Given the description of an element on the screen output the (x, y) to click on. 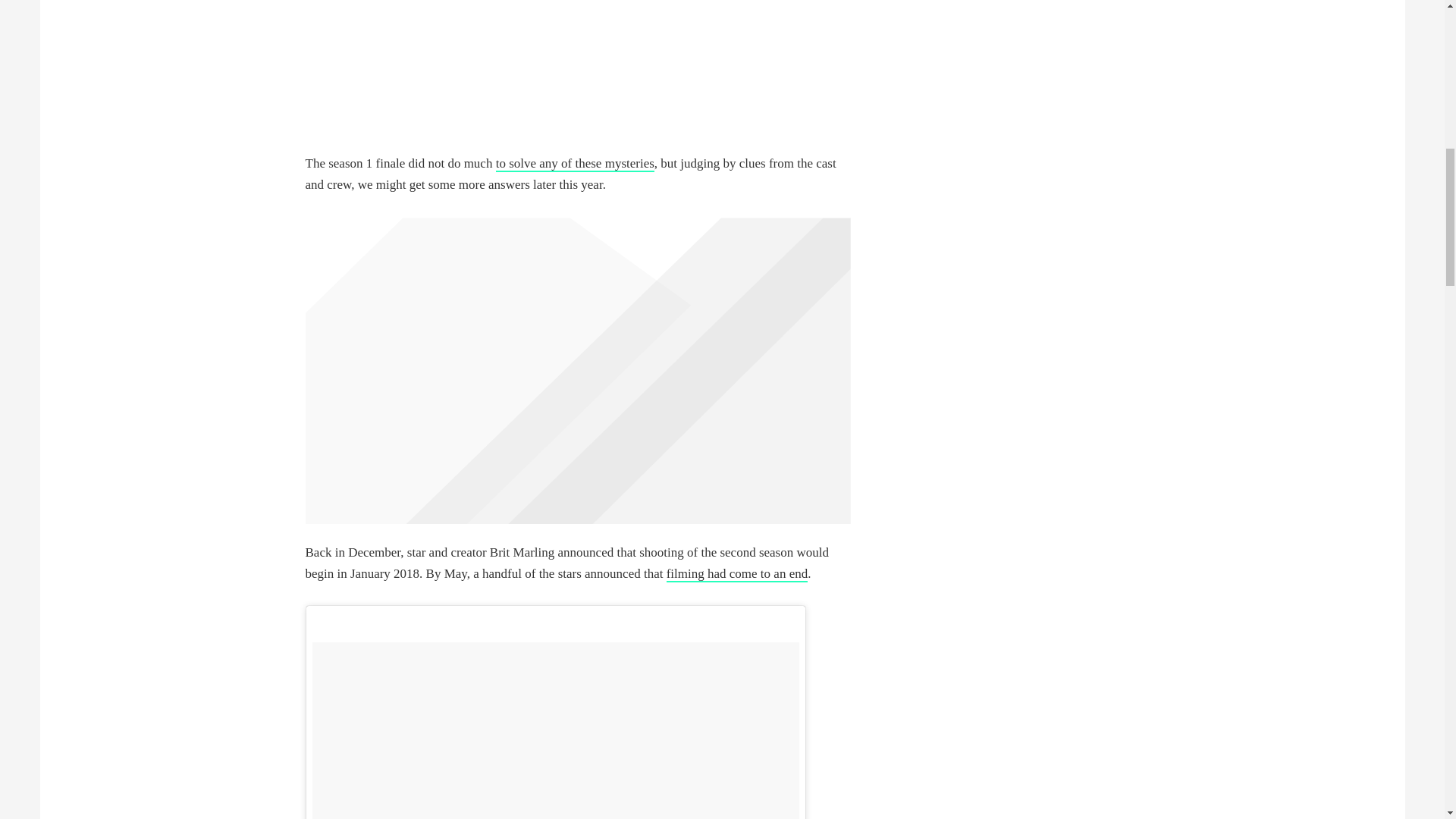
to solve any of these mysteries (574, 163)
filming had come to an end (737, 574)
